Given the description of an element on the screen output the (x, y) to click on. 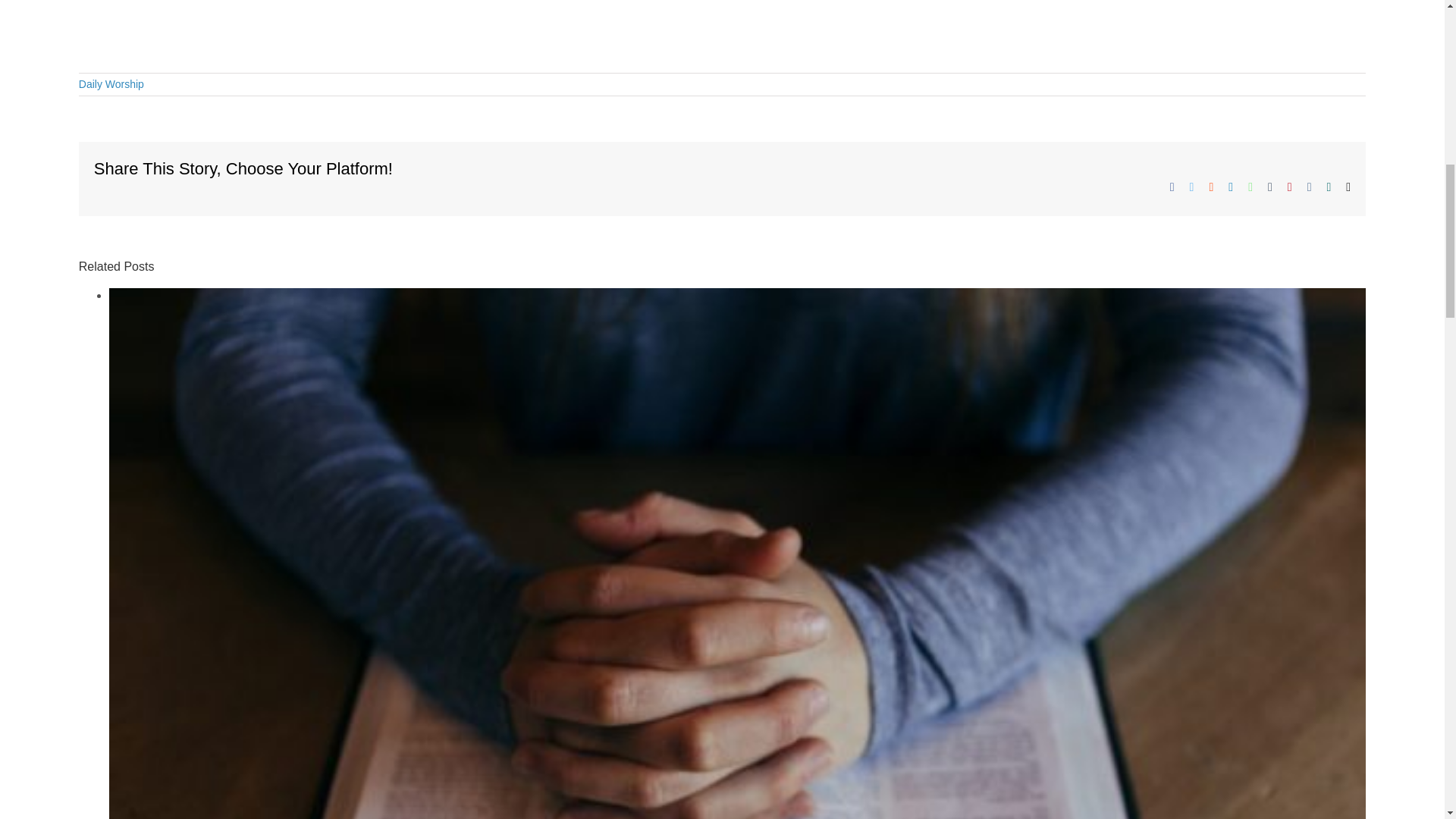
Daily Worship (111, 83)
